Given the description of an element on the screen output the (x, y) to click on. 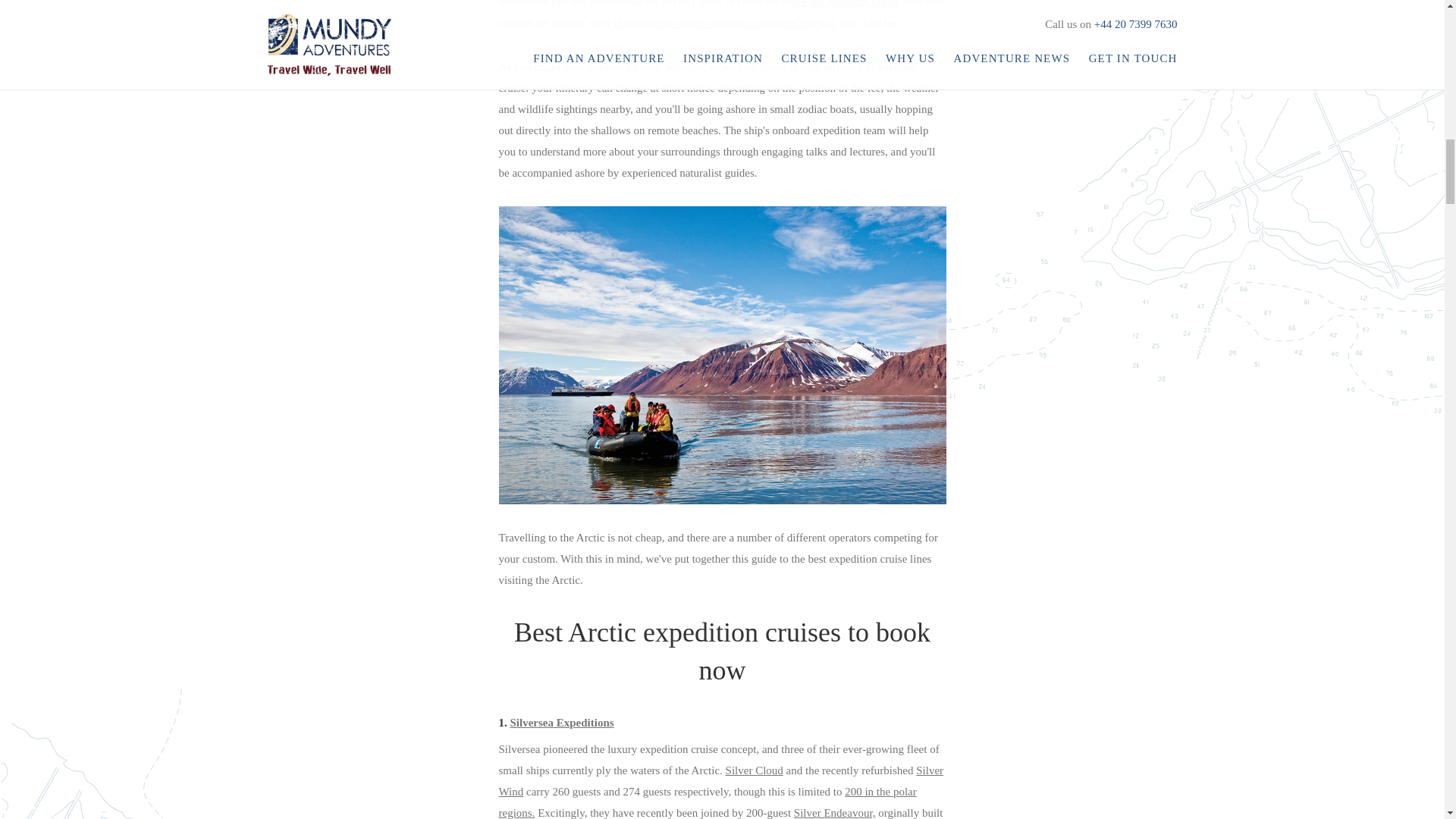
Silversea Expeditions (560, 722)
see the Northern Lights (845, 3)
Silver Endeavour, (834, 812)
Silver Cloud (754, 770)
Silver Wind (721, 780)
200 in the polar regions. (708, 802)
Hurtigruten's winter voyages to northern Norway (724, 22)
